Given the description of an element on the screen output the (x, y) to click on. 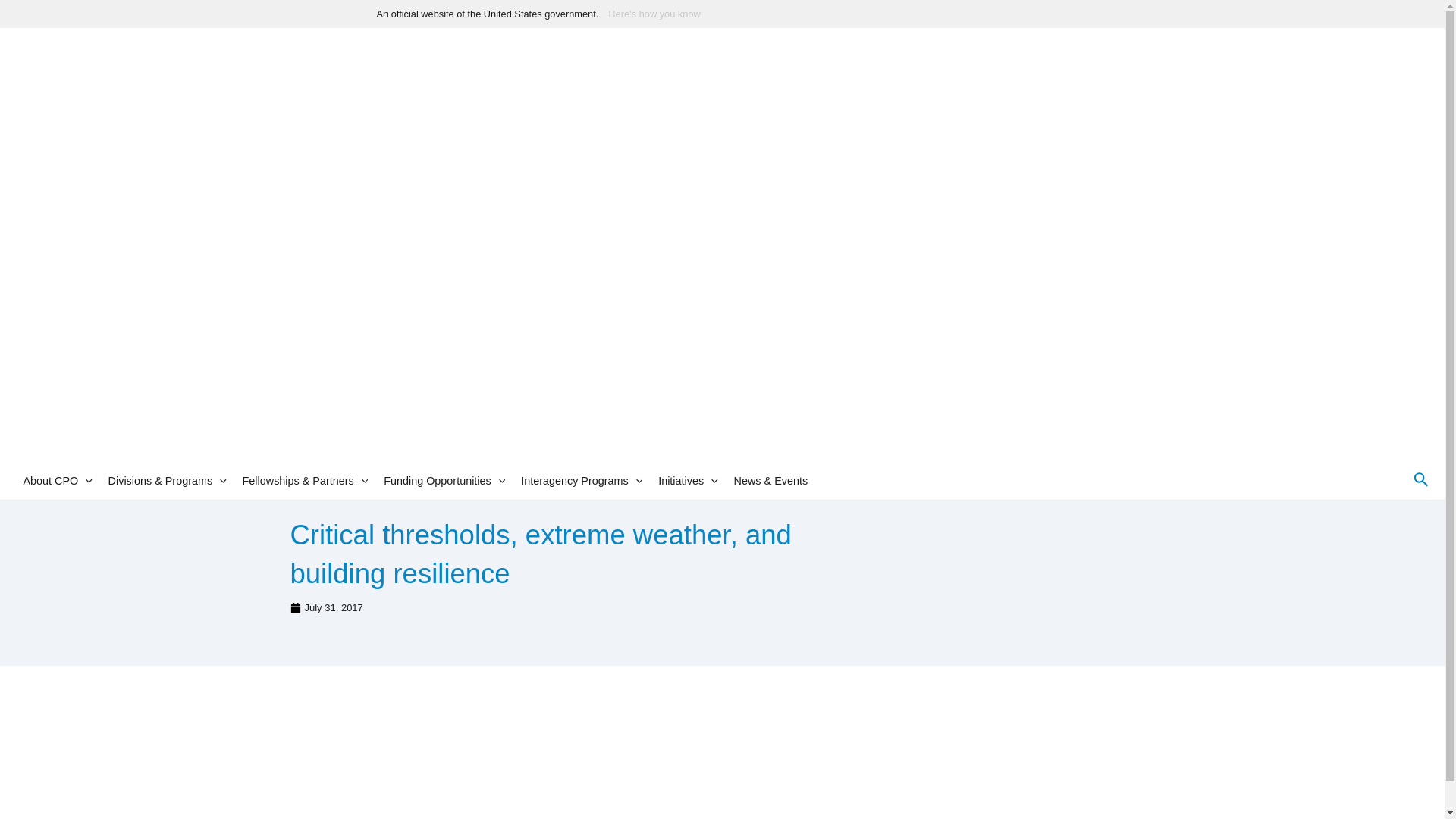
About CPO (57, 480)
